Given the description of an element on the screen output the (x, y) to click on. 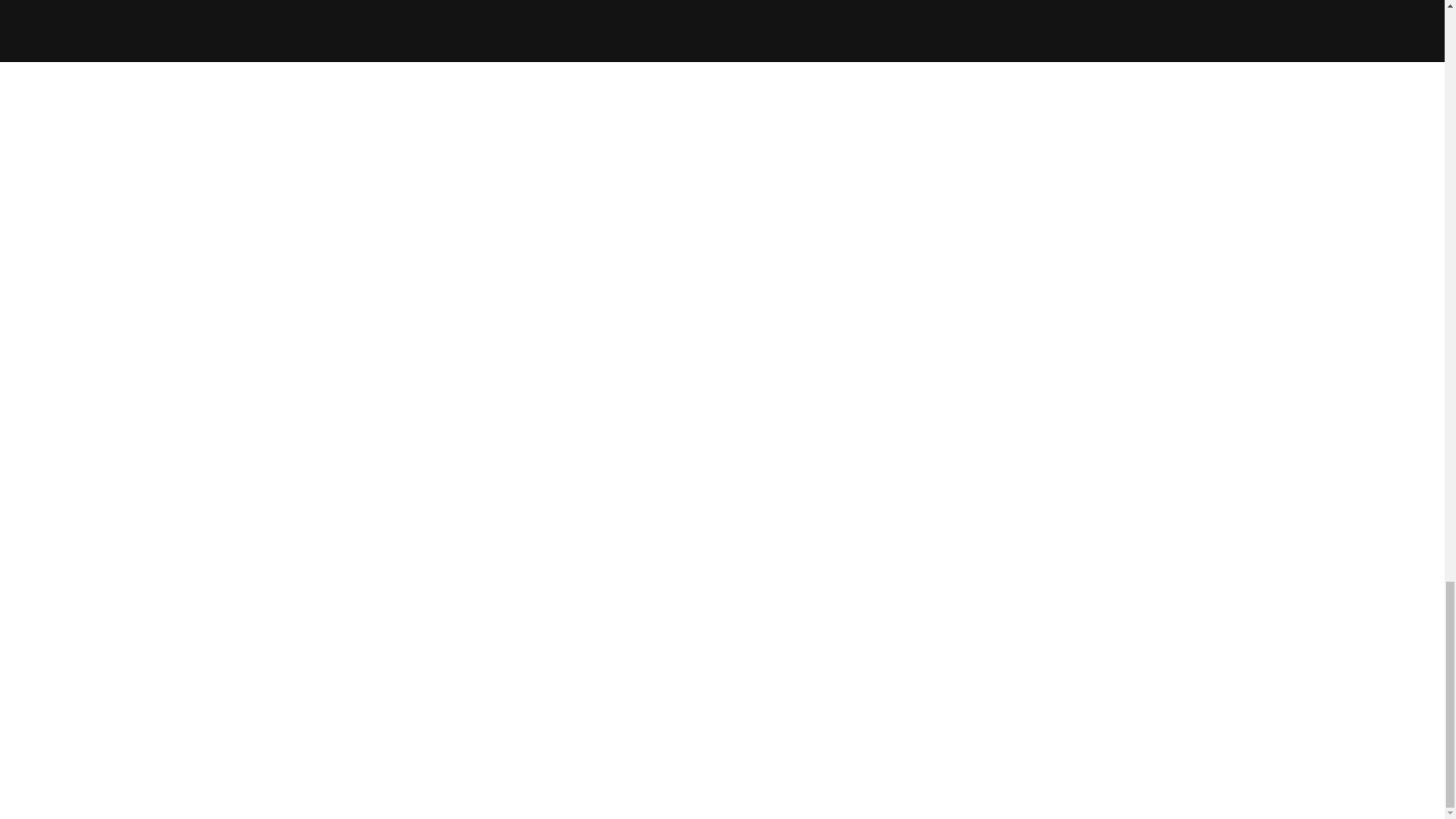
White Wine (388, 118)
About us (611, 118)
Red Wine (388, 97)
Twitter (1055, 97)
Contact us (611, 139)
Wine Clubs (388, 159)
Jobs (611, 159)
Shipping (834, 97)
Returns (834, 77)
Cyber-Security Incident Information (834, 139)
